Given the description of an element on the screen output the (x, y) to click on. 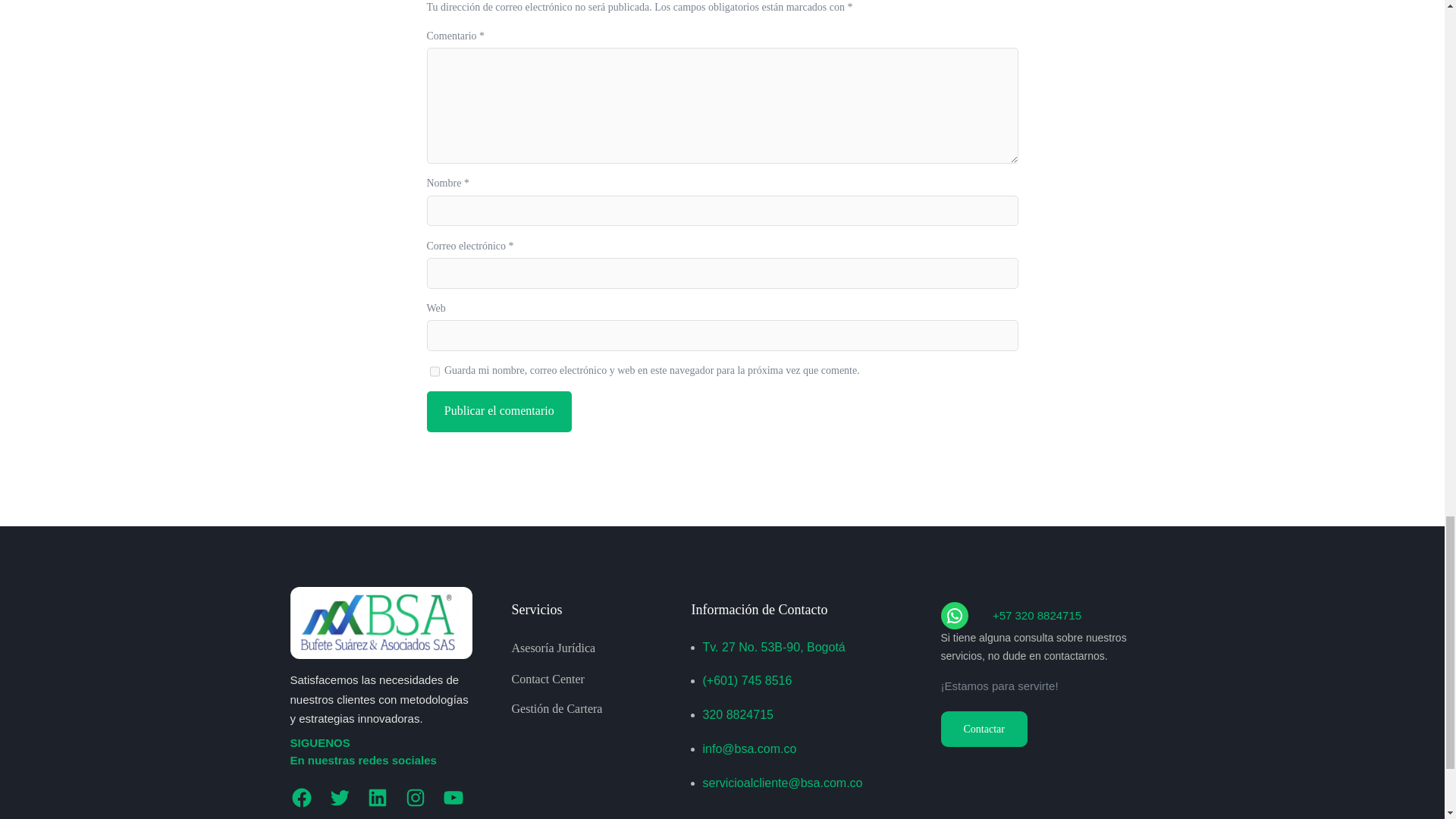
Instagram (414, 797)
Publicar el comentario (498, 411)
LinkedIn (376, 797)
Twitter (338, 797)
YouTube (452, 797)
Facebook (301, 797)
Publicar el comentario (498, 411)
